Given the description of an element on the screen output the (x, y) to click on. 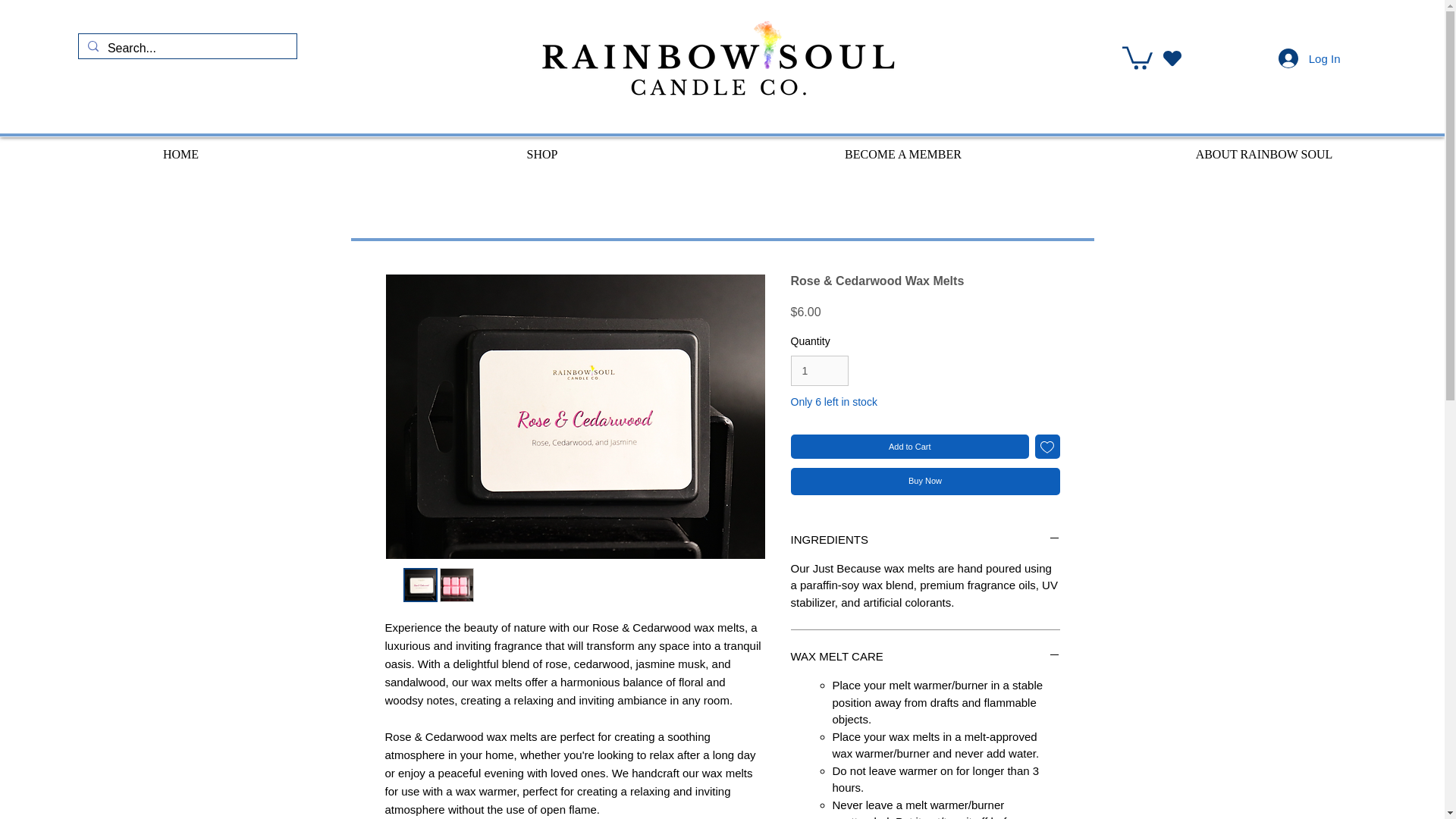
1 (818, 370)
Log In (1309, 58)
INGREDIENTS (924, 539)
BECOME A MEMBER (902, 149)
Buy Now (924, 480)
HOME (180, 149)
SHOP (541, 149)
Add to Cart (909, 446)
WAX MELT CARE (924, 656)
